Given the description of an element on the screen output the (x, y) to click on. 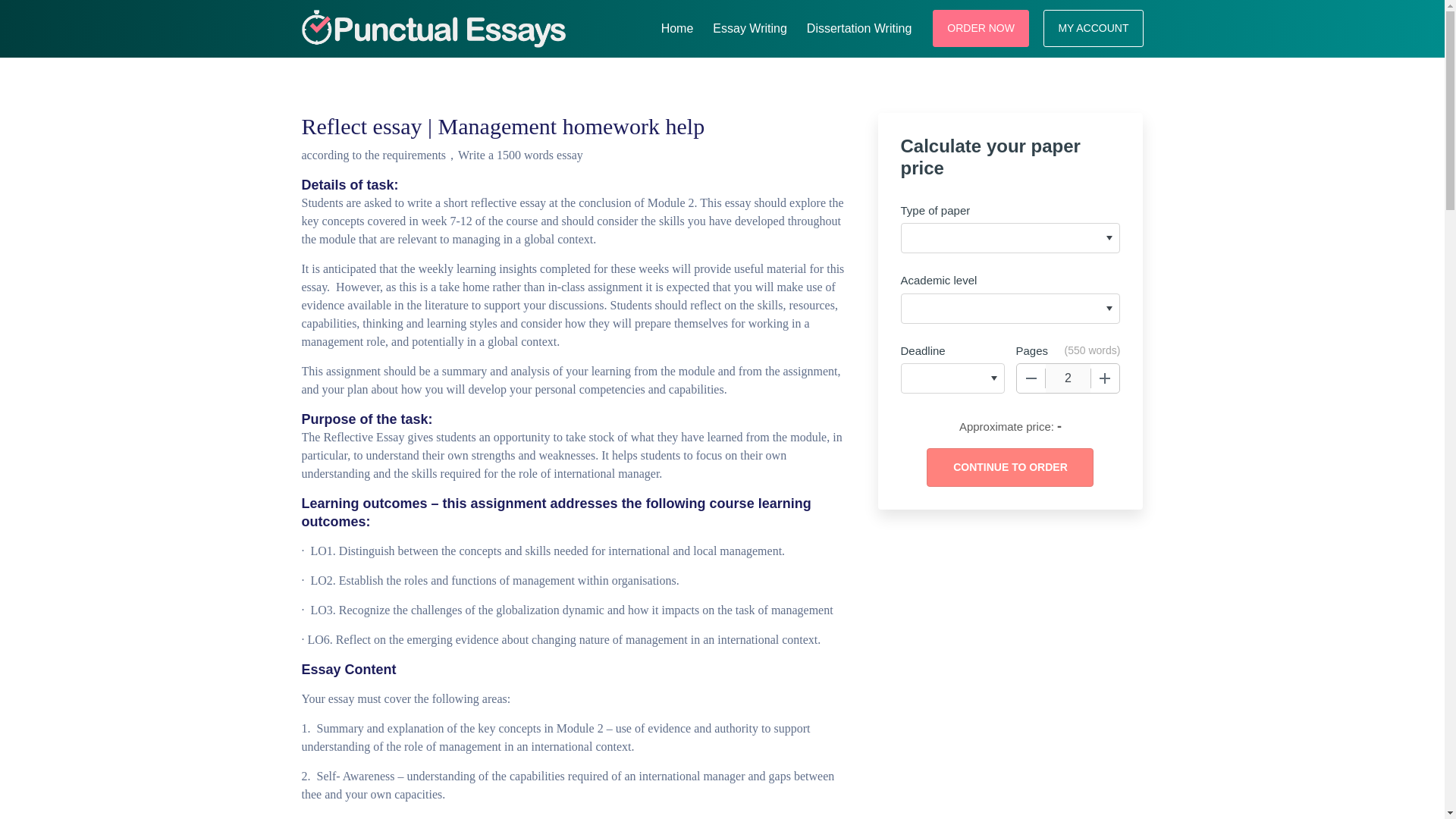
Dissertation Writing (858, 26)
Home (677, 26)
Dissertation Writing (858, 26)
2 (1067, 378)
Continue to order (1009, 466)
Essay Writing (749, 26)
Home (677, 26)
Increase (1104, 378)
Continue to order (1009, 466)
MY ACCOUNT (1092, 27)
Decrease (1030, 378)
ORDER NOW (981, 27)
Essay Writing (749, 26)
